Given the description of an element on the screen output the (x, y) to click on. 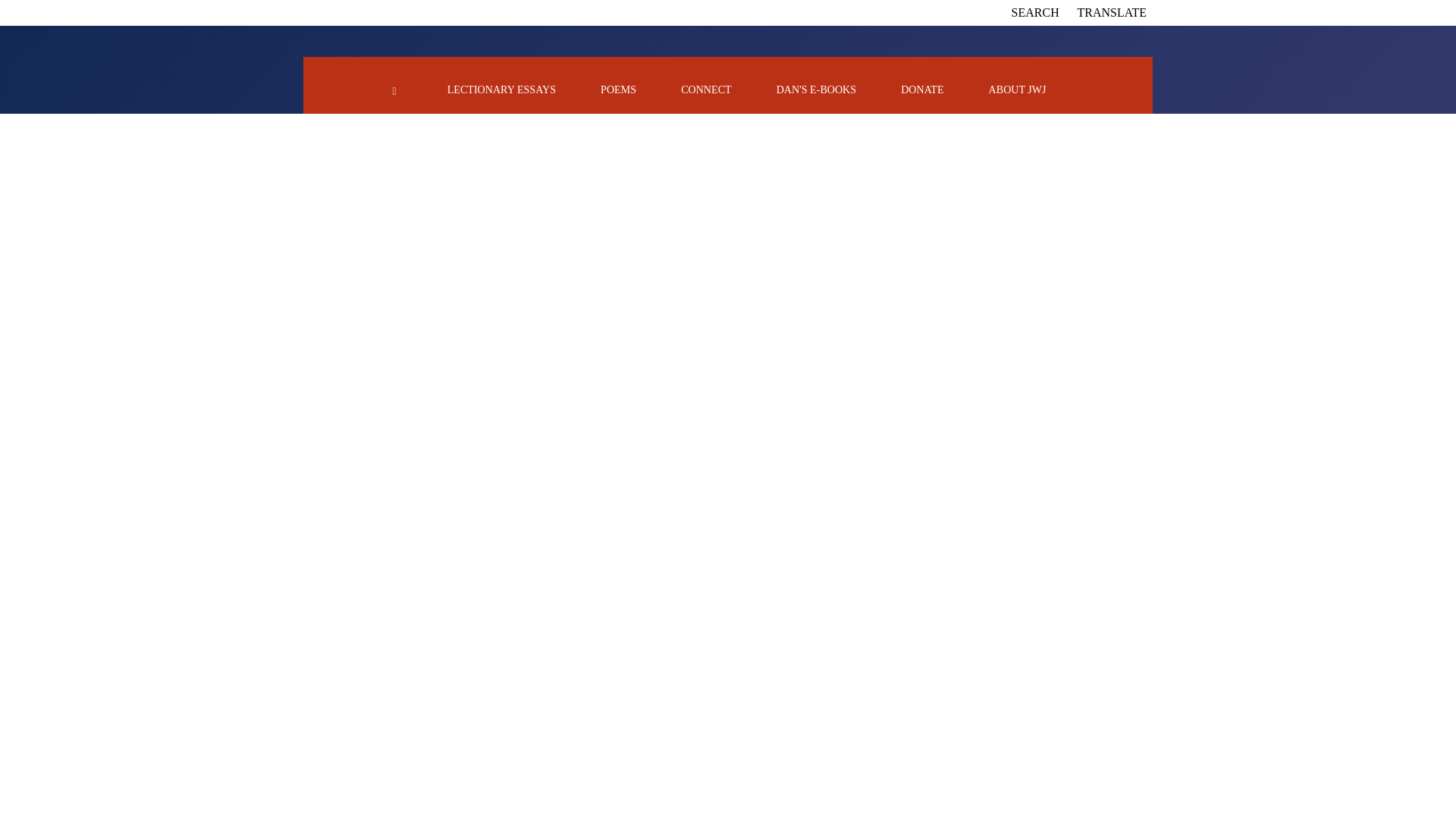
DONATE (922, 89)
DAN'S E-BOOKS (816, 89)
ABOUT JWJ (1017, 89)
LECTIONARY ESSAYS (501, 89)
POEMS (617, 89)
TRANSLATE (1112, 11)
SEARCH (1035, 11)
HOME (395, 89)
CONNECT (705, 89)
